Given the description of an element on the screen output the (x, y) to click on. 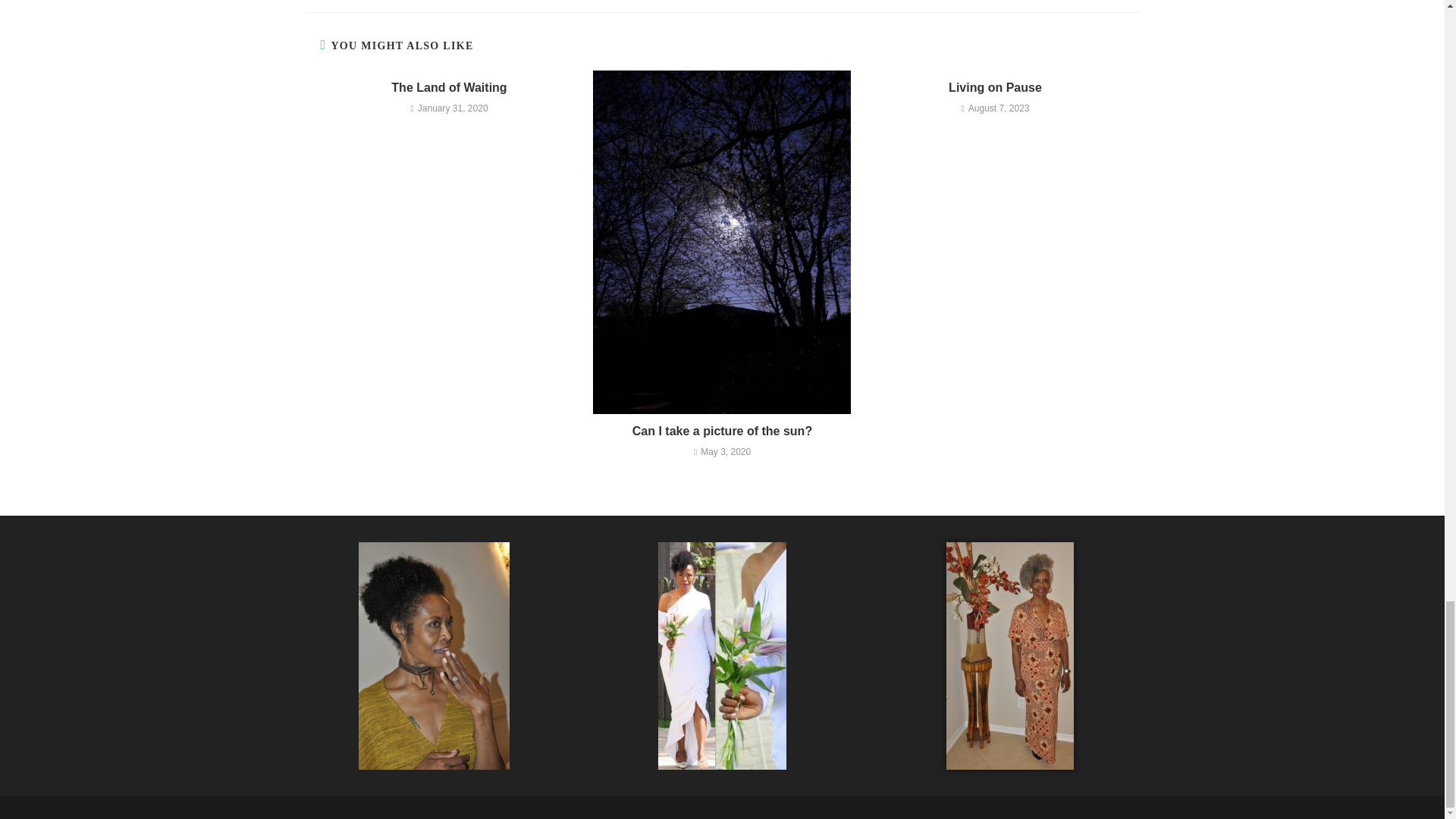
The Land of Waiting (449, 87)
Can I take a picture of the sun? (721, 431)
Can I take a picture of the sun? (721, 431)
The Land of Waiting (449, 87)
Living on Pause (995, 87)
Living on Pause (995, 87)
